Given the description of an element on the screen output the (x, y) to click on. 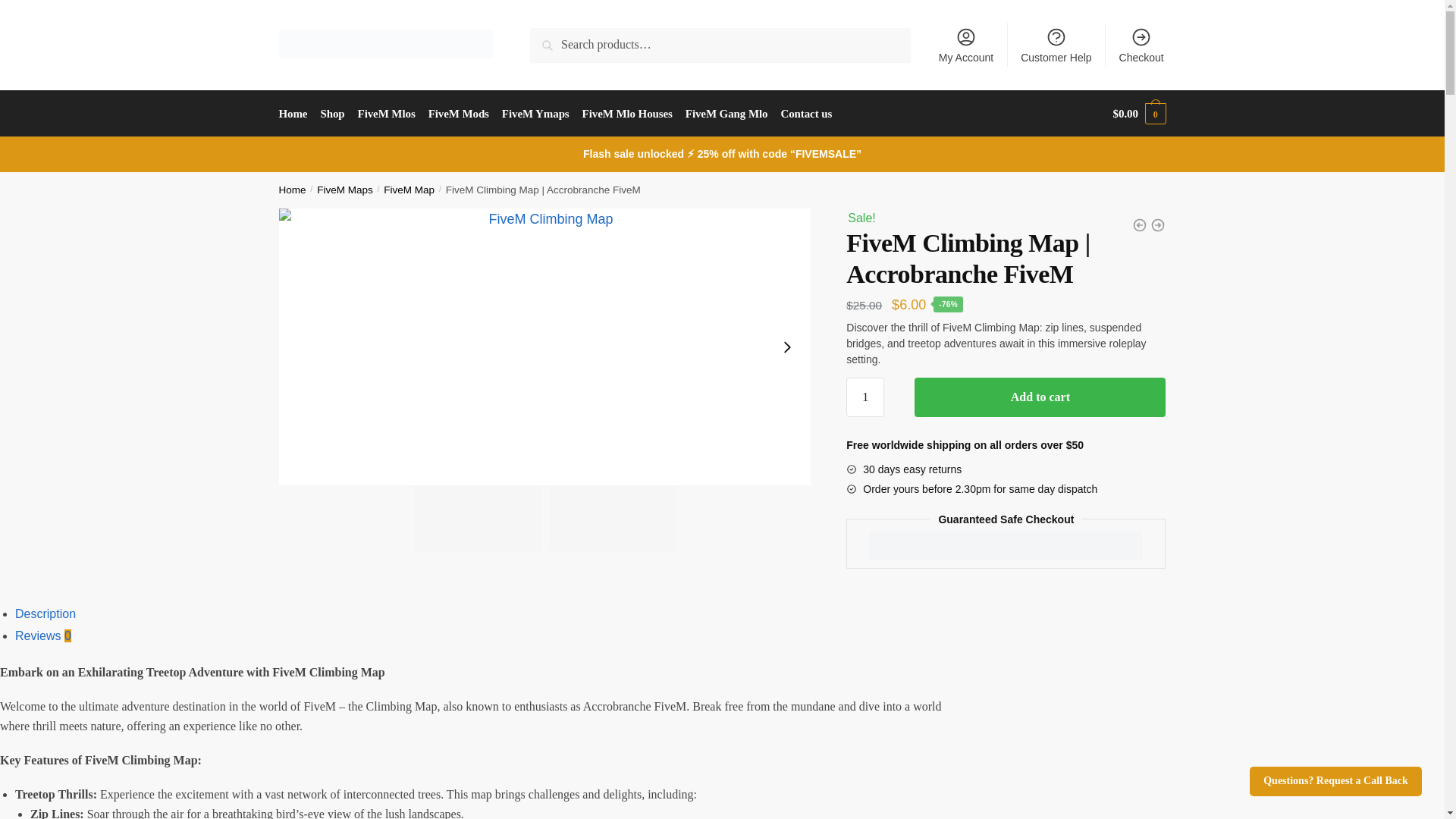
FiveM Climbing Map (612, 517)
Home (292, 189)
View your shopping cart (1139, 113)
Contact us (806, 113)
FiveM Mlo Houses (626, 113)
FiveM Maps (344, 189)
Customer Help (1055, 44)
Search (550, 38)
Checkout (1141, 44)
